Given the description of an element on the screen output the (x, y) to click on. 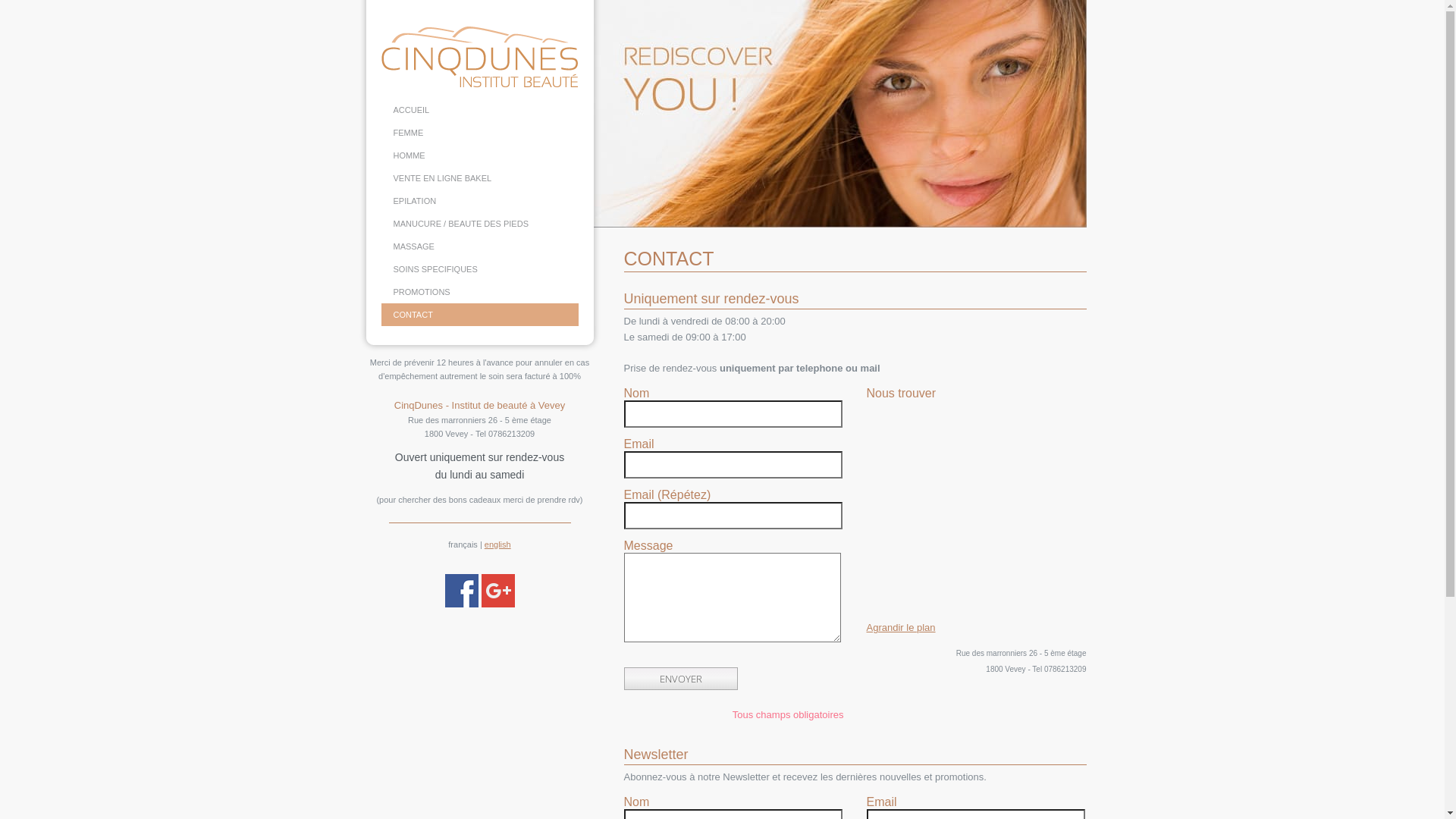
EPILATION Element type: text (478, 200)
MASSAGE Element type: text (478, 246)
Envoyer Element type: text (680, 678)
Agrandir le plan Element type: text (900, 627)
CONTACT Element type: text (478, 314)
FEMME Element type: text (478, 132)
english Element type: text (497, 544)
PROMOTIONS Element type: text (478, 291)
ACCUEIL Element type: text (478, 109)
VENTE EN LIGNE BAKEL Element type: text (478, 177)
SOINS SPECIFIQUES Element type: text (478, 268)
HOMME Element type: text (478, 155)
MANUCURE / BEAUTE DES PIEDS Element type: text (478, 223)
